Given the description of an element on the screen output the (x, y) to click on. 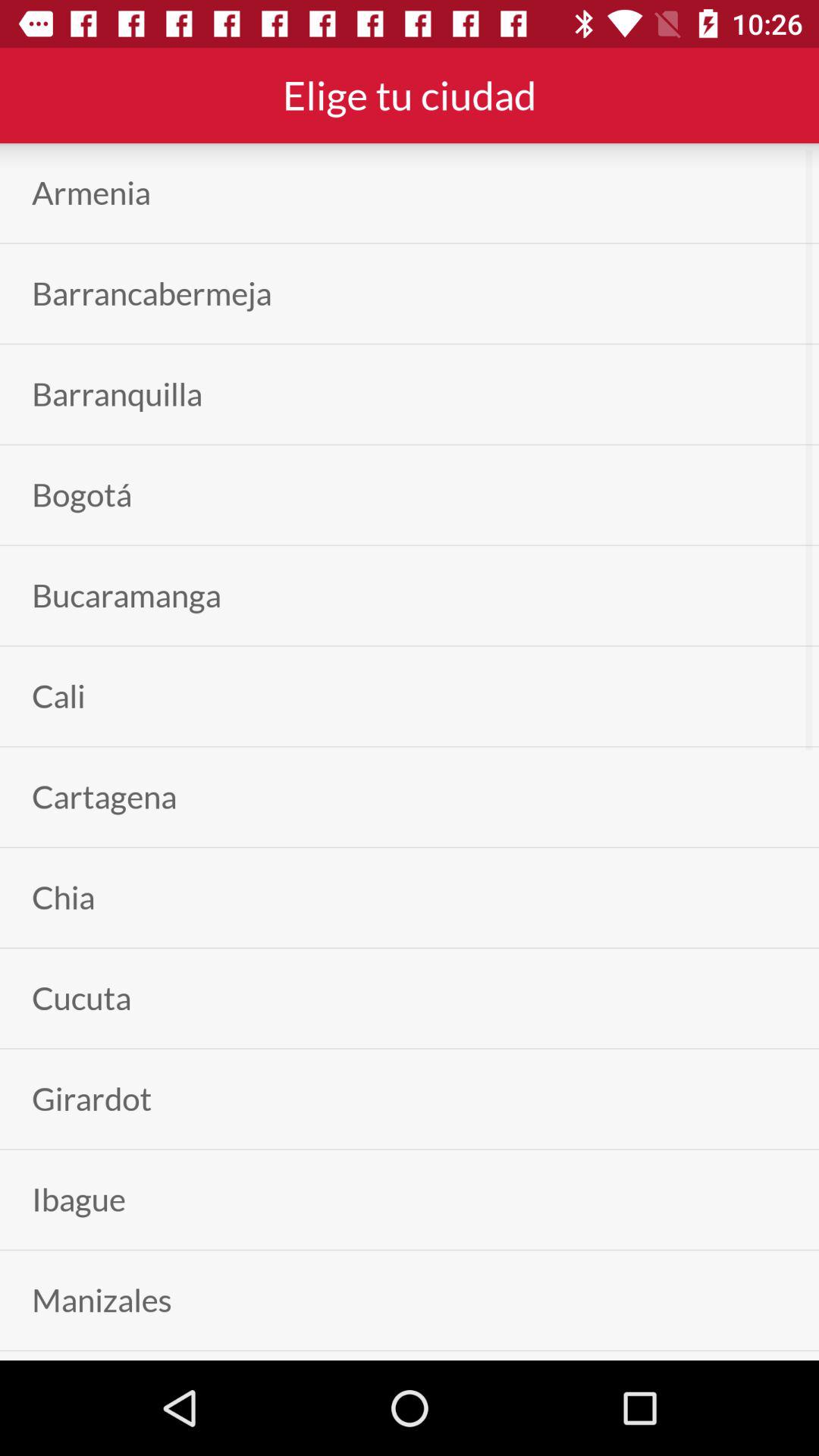
scroll until bucaramanga icon (126, 595)
